Given the description of an element on the screen output the (x, y) to click on. 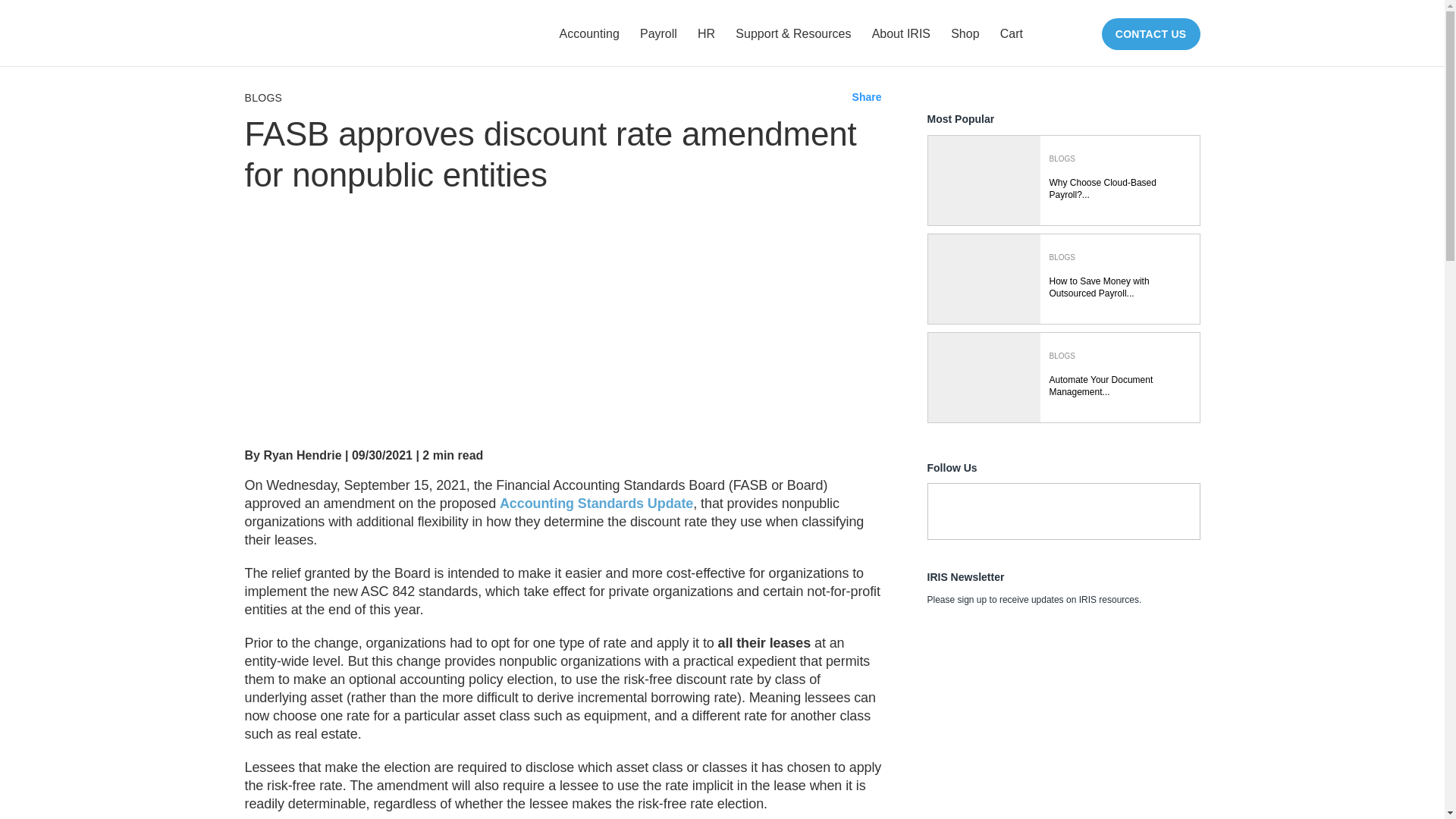
Payroll (657, 33)
Accounting (588, 33)
